Given the description of an element on the screen output the (x, y) to click on. 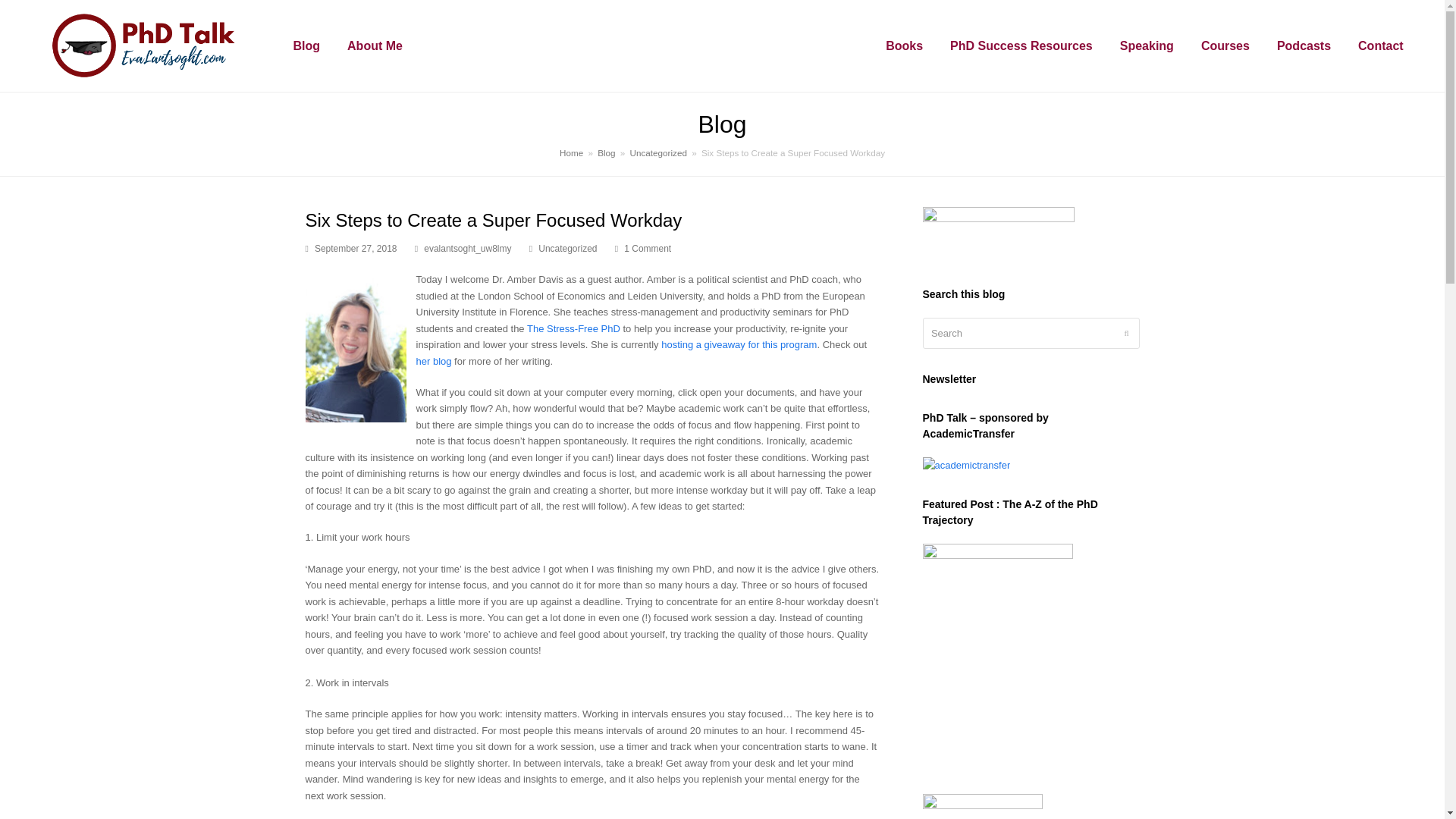
About Me (374, 45)
Speaking (1147, 45)
Courses (1225, 45)
PhD Success Resources (1021, 45)
Podcasts (1303, 45)
1 Comment (642, 249)
Books (904, 45)
Blog (306, 45)
PhD Talk - sponsored by AcademicTransfer (965, 465)
Contact (1379, 45)
